Given the description of an element on the screen output the (x, y) to click on. 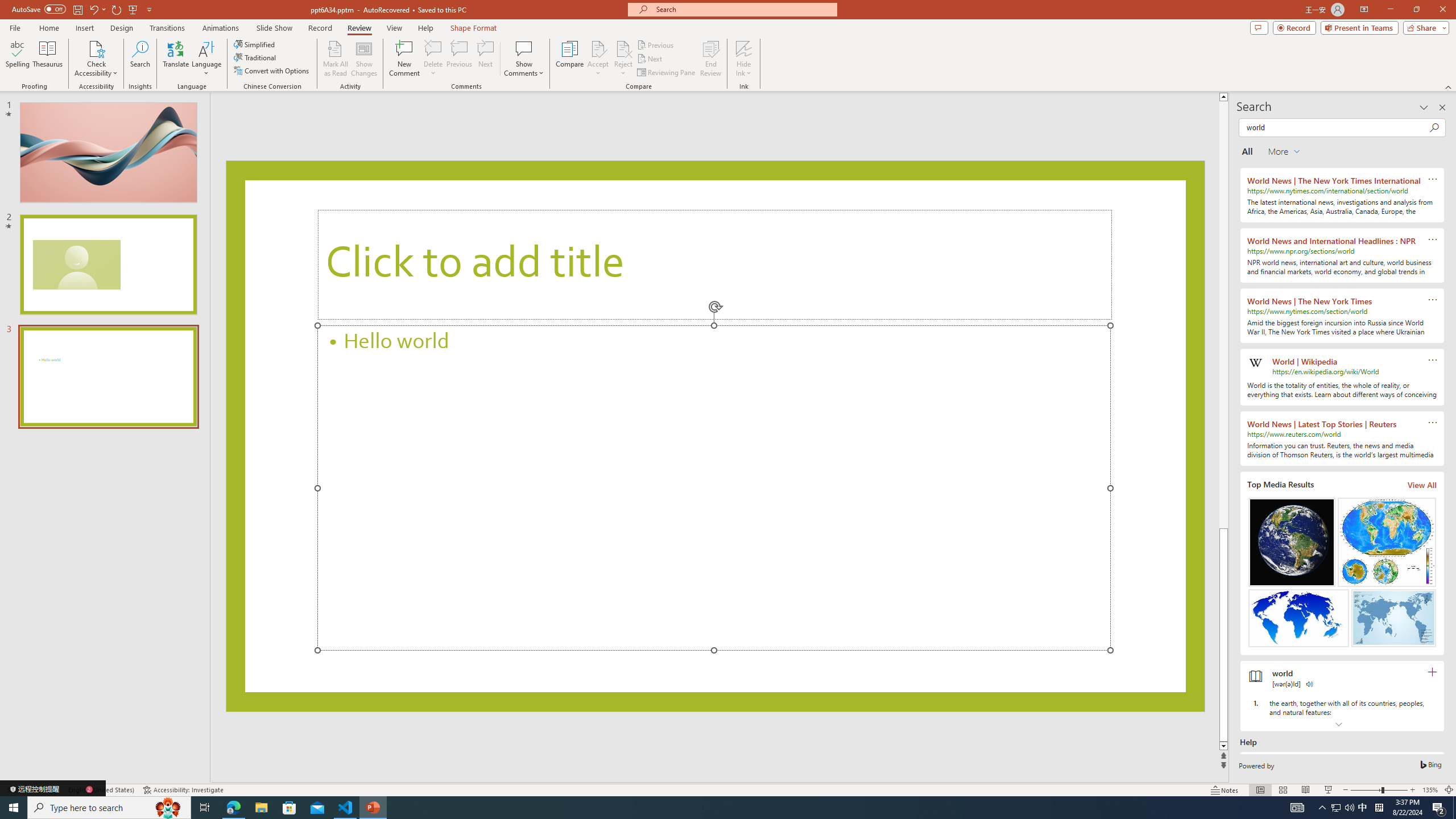
Show Changes (363, 58)
Thesaurus... (47, 58)
Accept Change (598, 48)
Convert with Options... (272, 69)
Traditional (255, 56)
Reviewing Pane (666, 72)
